Given the description of an element on the screen output the (x, y) to click on. 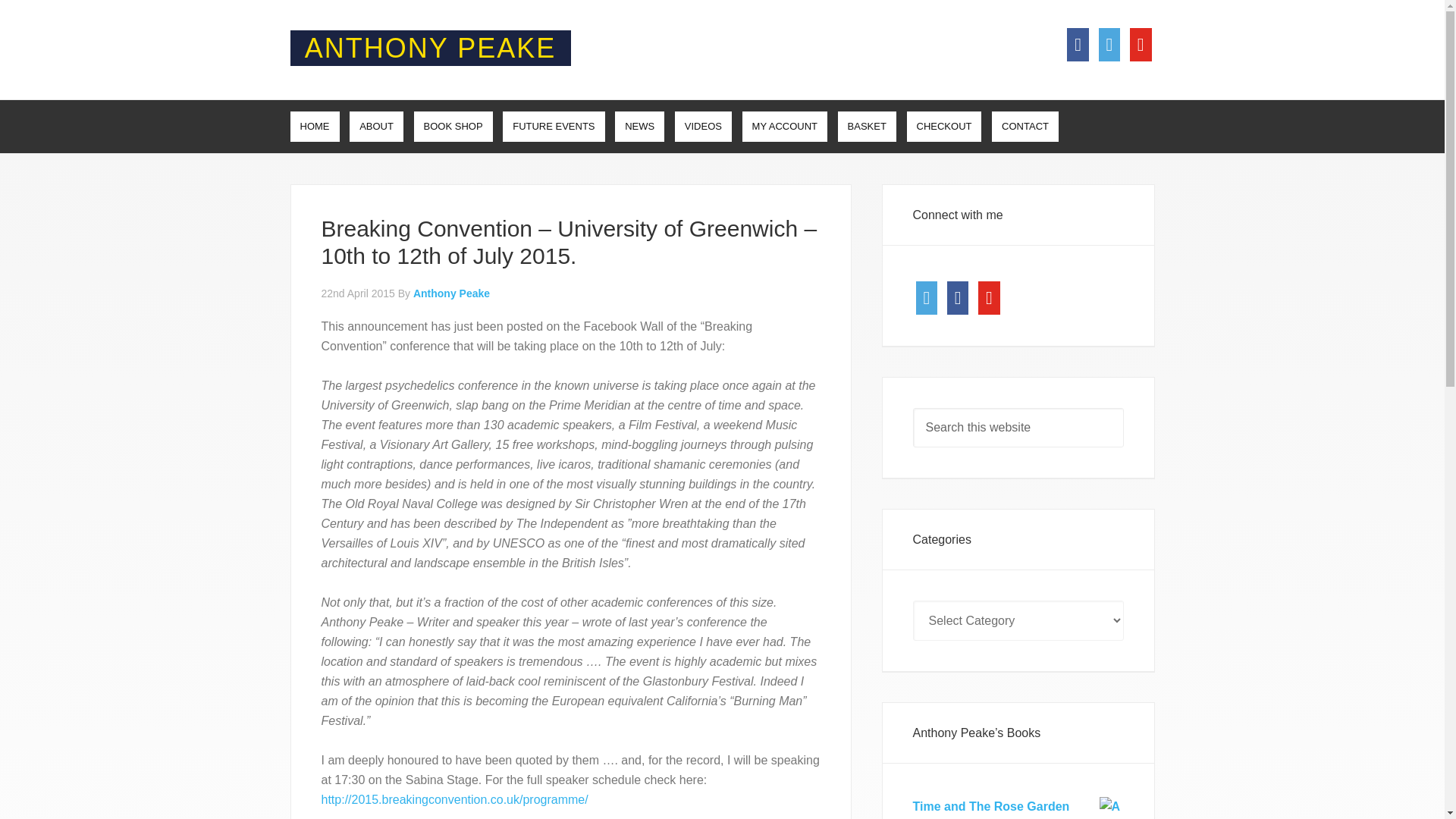
HOME (314, 126)
VIDEOS (703, 126)
FUTURE EVENTS (553, 126)
ABOUT (376, 126)
ANTHONY PEAKE (430, 47)
CHECKOUT (944, 126)
CONTACT (1024, 126)
BOOK SHOP (453, 126)
NEWS (638, 126)
MY ACCOUNT (784, 126)
Time and The Rose Garden (1018, 806)
Anthony Peake (451, 293)
